Given the description of an element on the screen output the (x, y) to click on. 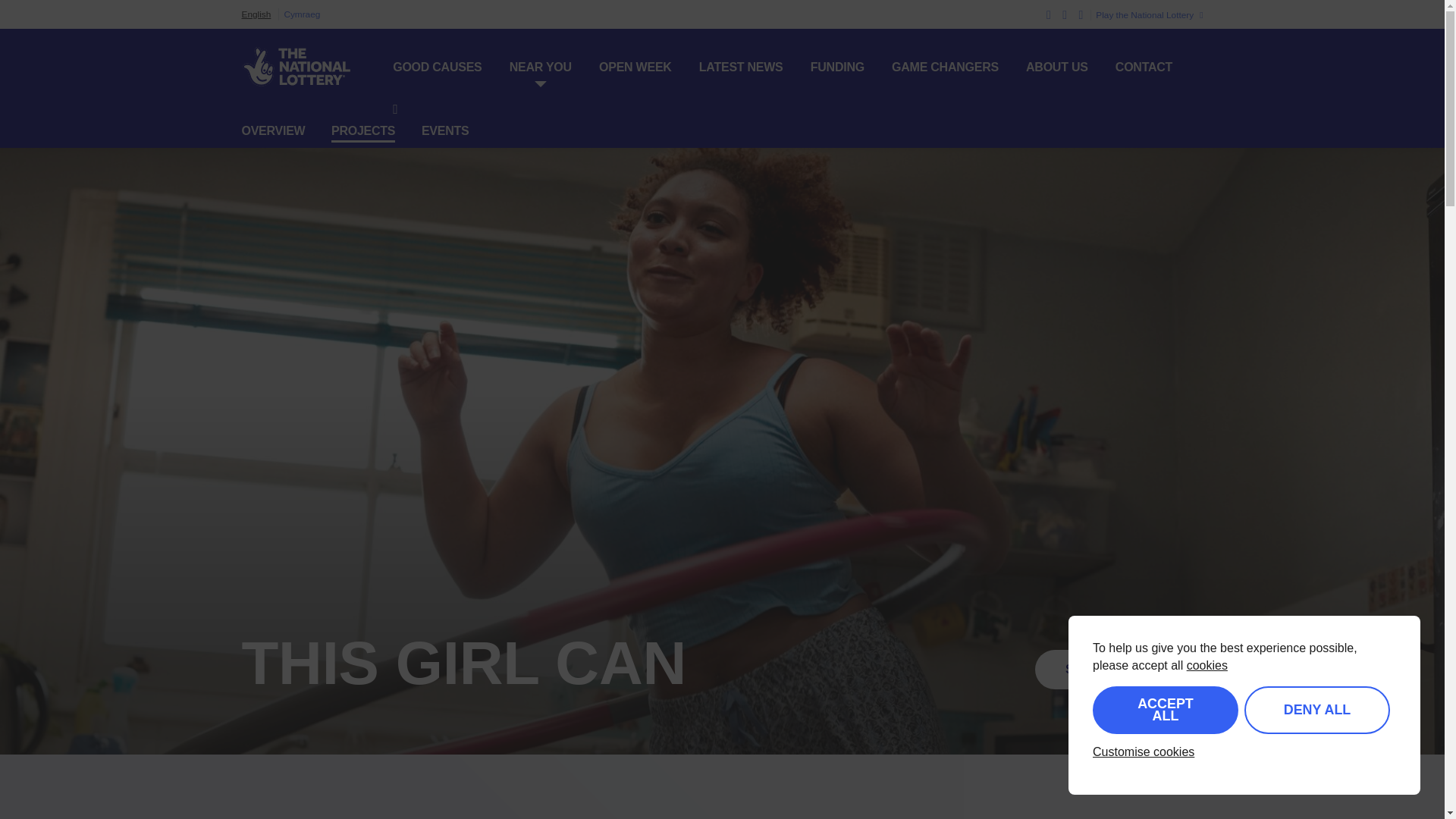
GAME CHANGERS (944, 66)
ACCEPT ALL (1166, 709)
Customise cookies (1143, 752)
English (255, 14)
EVENTS (445, 131)
Play the National Lottery (1147, 14)
GOOD CAUSES (437, 66)
LATEST NEWS (740, 66)
cookies (1206, 665)
DENY ALL (1317, 709)
